Given the description of an element on the screen output the (x, y) to click on. 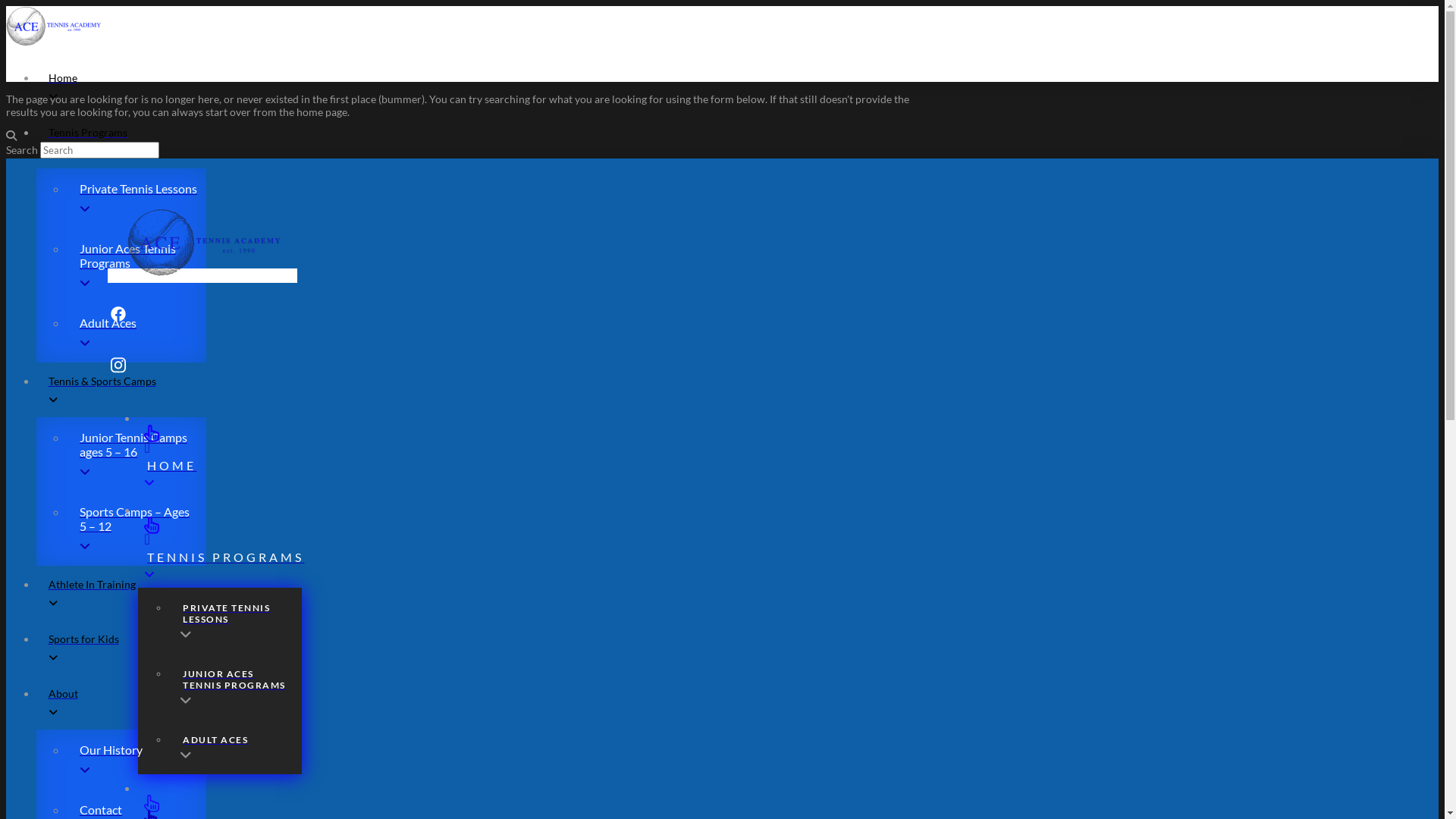
Private Tennis Lessons Element type: text (136, 198)
Tennis & Sports Camps Element type: text (737, 389)
Sports for Kids Element type: text (737, 647)
Junior Aces Tennis Programs Element type: text (136, 265)
JUNIOR ACES TENNIS PROGRAMS Element type: text (234, 686)
HOME Element type: text (737, 449)
Our History Element type: text (136, 759)
Tennis Programs Element type: text (737, 140)
TENNIS PROGRAMS Element type: text (737, 541)
Athlete In Training Element type: text (737, 592)
Adult Aces Element type: text (136, 332)
Home Element type: text (737, 86)
ADULT ACES Element type: text (234, 746)
About Element type: text (737, 701)
PRIVATE TENNIS LESSONS Element type: text (234, 620)
